Given the description of an element on the screen output the (x, y) to click on. 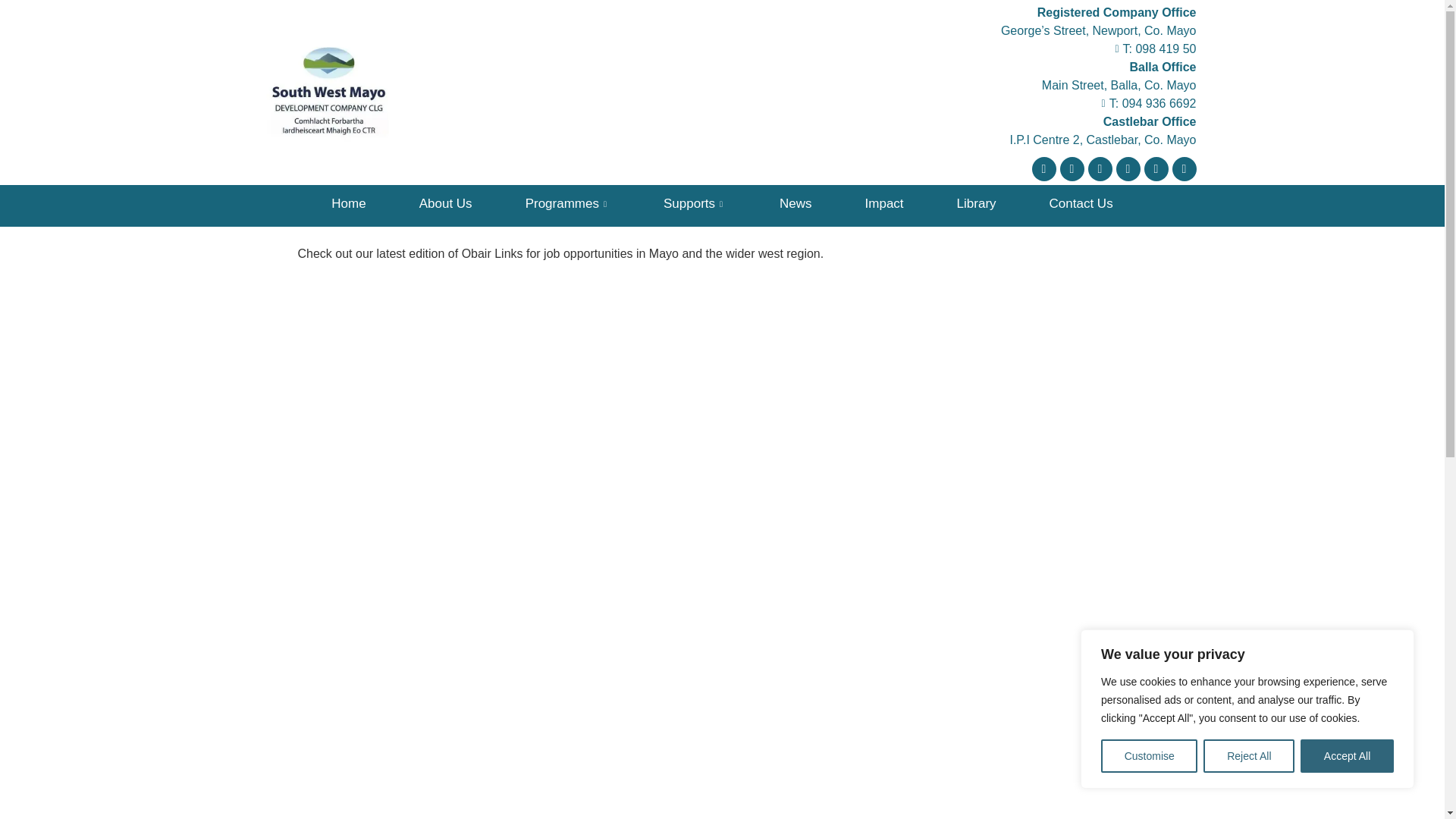
Programmes (568, 203)
About Us (446, 203)
Accept All (1346, 756)
Reject All (1249, 756)
Supports (694, 203)
Home (347, 203)
Customise (1148, 756)
